Given the description of an element on the screen output the (x, y) to click on. 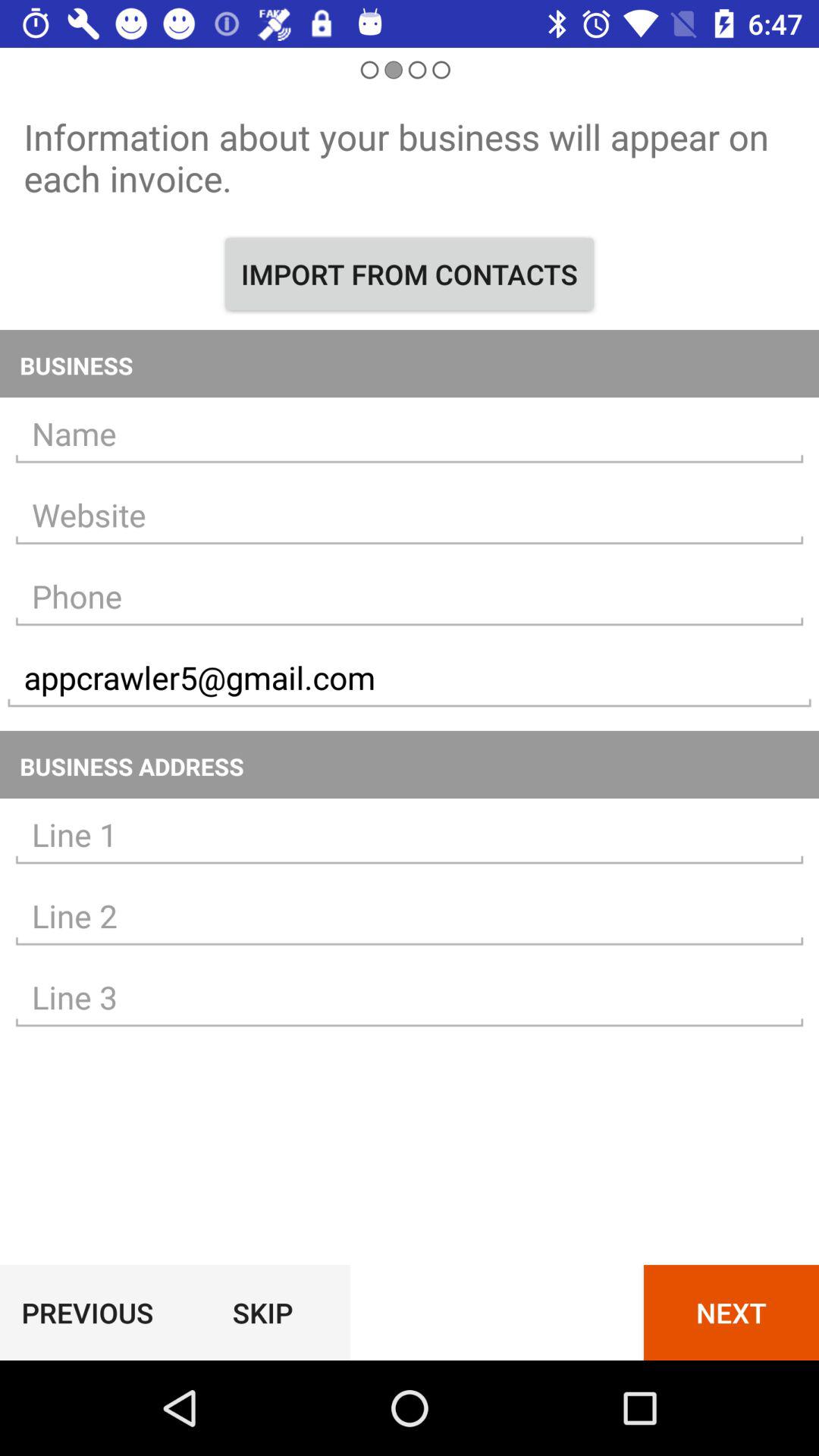
text area contains website (409, 515)
